Given the description of an element on the screen output the (x, y) to click on. 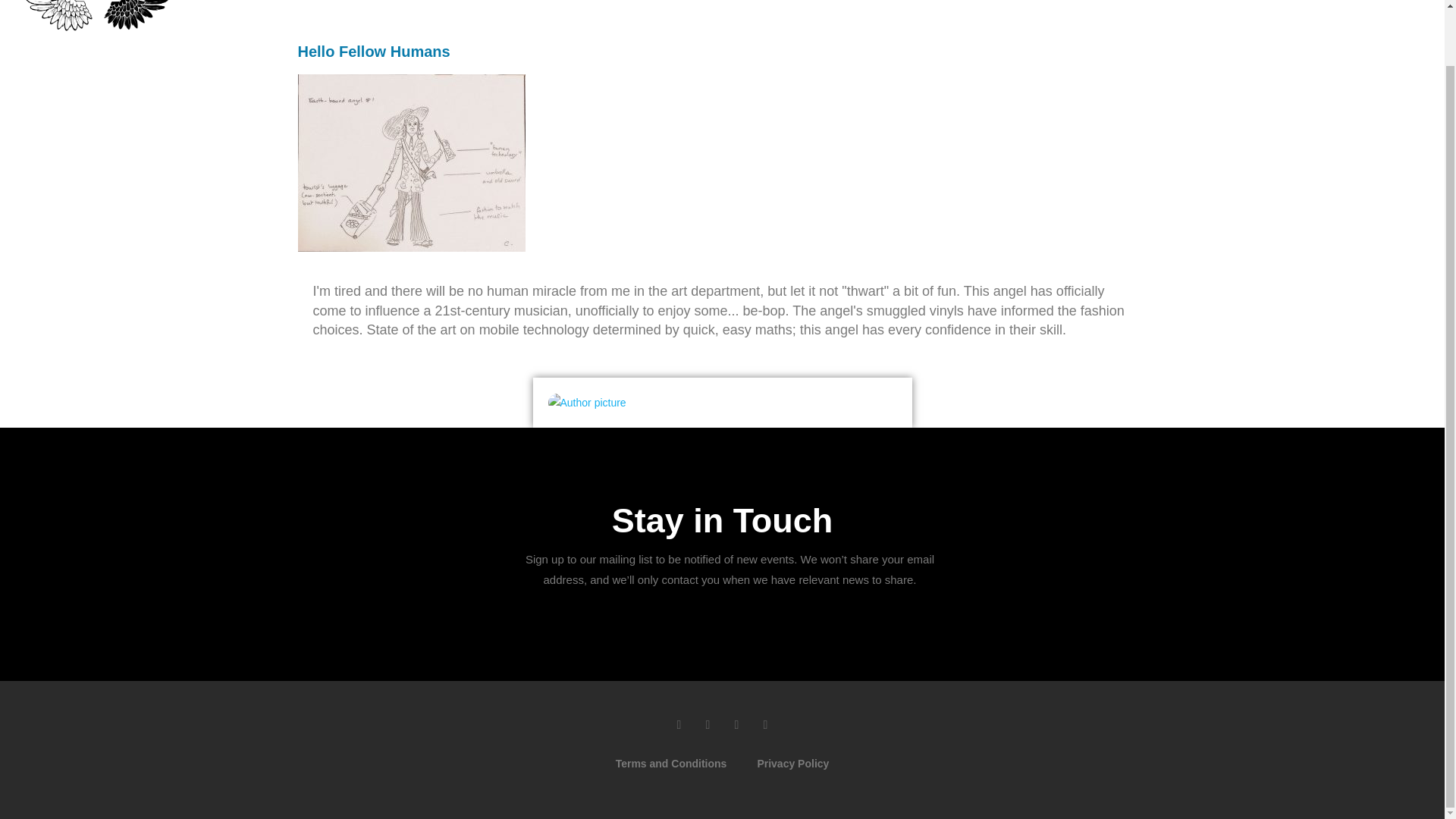
Shop (812, 2)
Contact Us (966, 2)
Events (670, 2)
About Us (881, 2)
Login (1117, 2)
Register (1049, 2)
Activities (743, 2)
Home (606, 2)
